Given the description of an element on the screen output the (x, y) to click on. 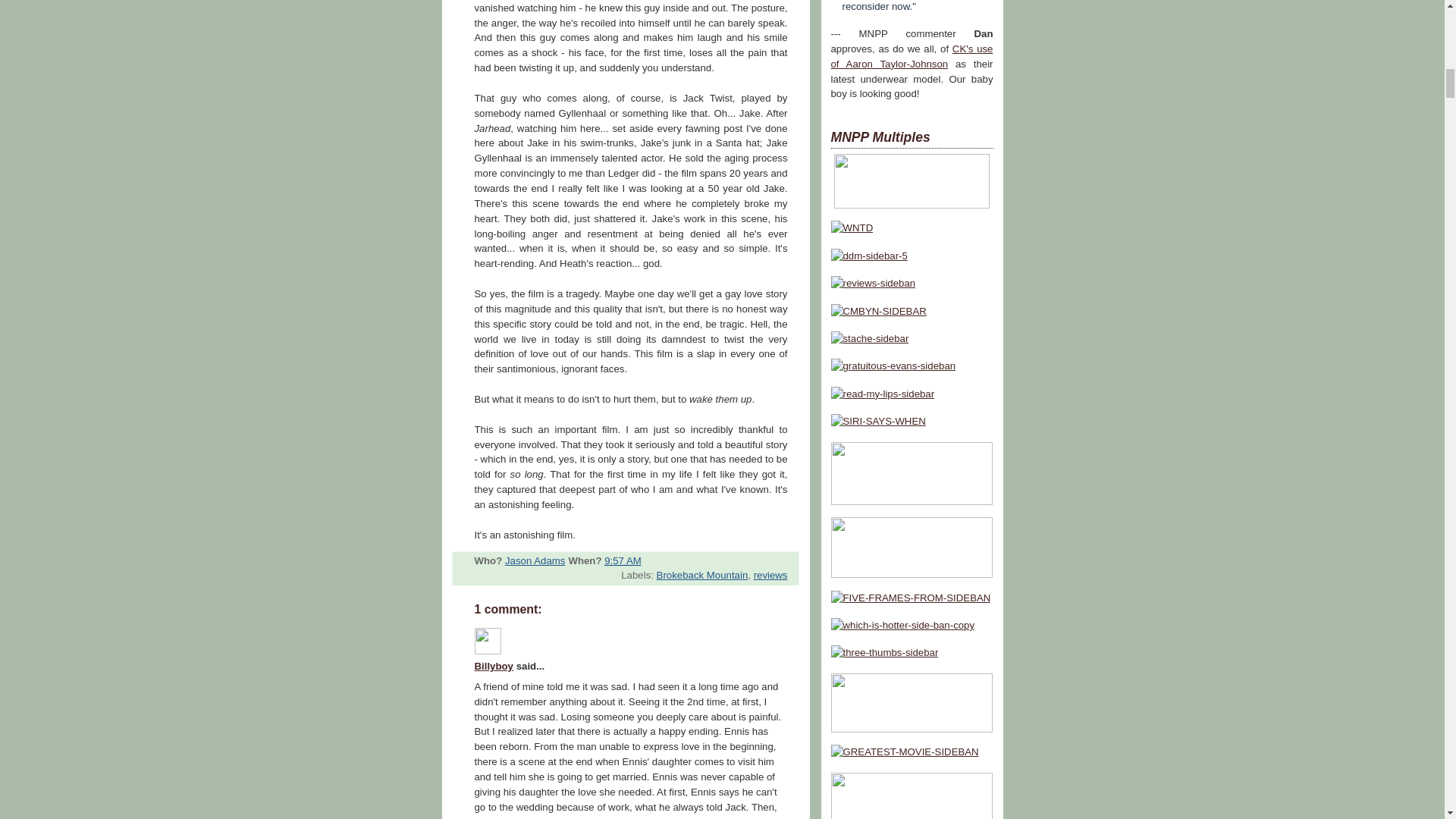
Brokeback Mountain (702, 574)
permanent link (623, 560)
9:57 AM (623, 560)
Billyboy (487, 641)
reviews (770, 574)
Jason Adams (534, 560)
Billyboy (493, 665)
author profile (534, 560)
